Given the description of an element on the screen output the (x, y) to click on. 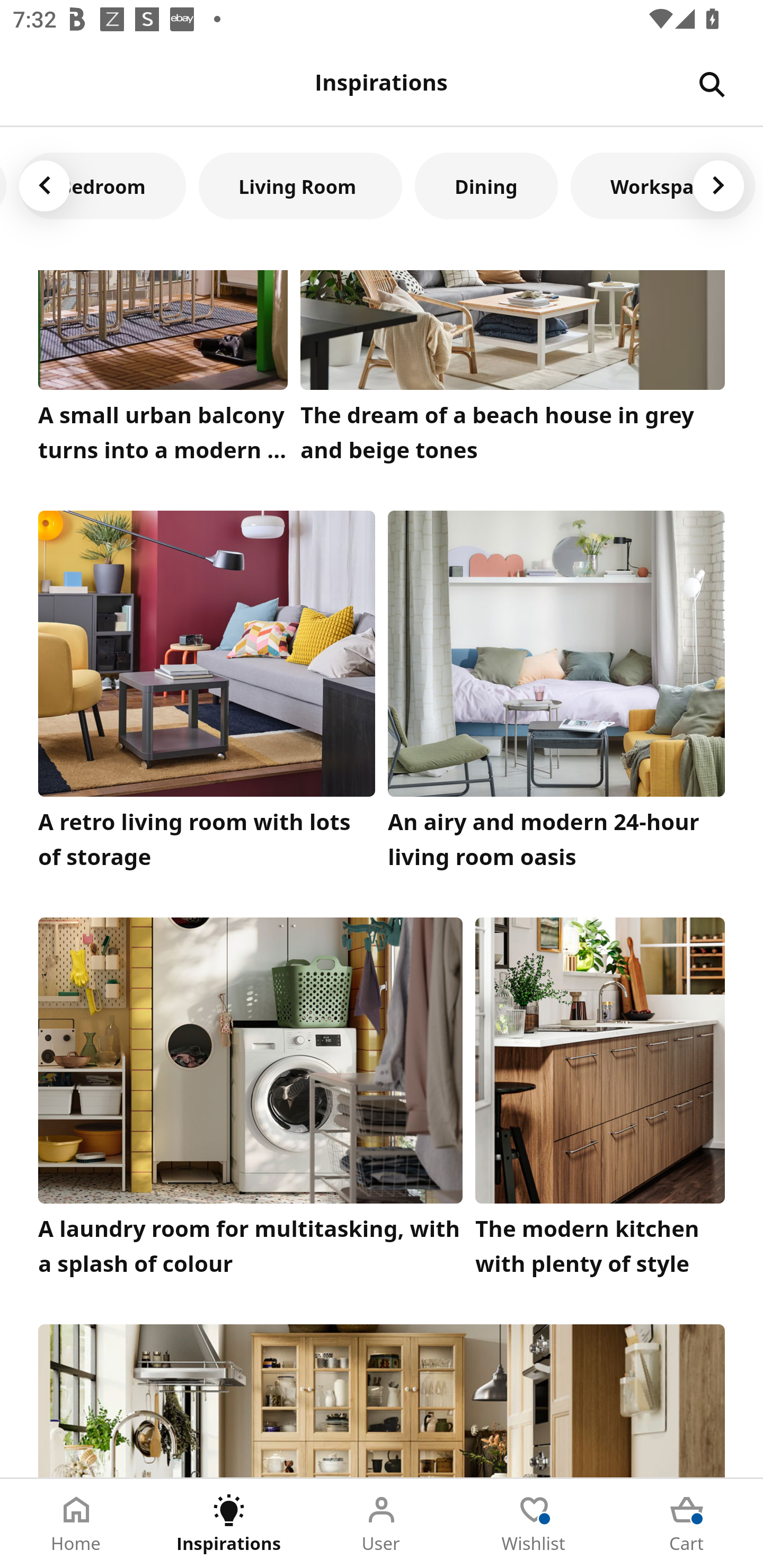
Bedroom (102, 185)
Living Room  (300, 185)
Dining (486, 185)
The dream of a beach house in grey and beige tones (512, 370)
A retro living room with lots of storage (206, 695)
An airy and modern 24-hour living room oasis (555, 695)
The modern kitchen with plenty of style (599, 1101)
Home
Tab 1 of 5 (76, 1522)
Inspirations
Tab 2 of 5 (228, 1522)
User
Tab 3 of 5 (381, 1522)
Wishlist
Tab 4 of 5 (533, 1522)
Cart
Tab 5 of 5 (686, 1522)
